Given the description of an element on the screen output the (x, y) to click on. 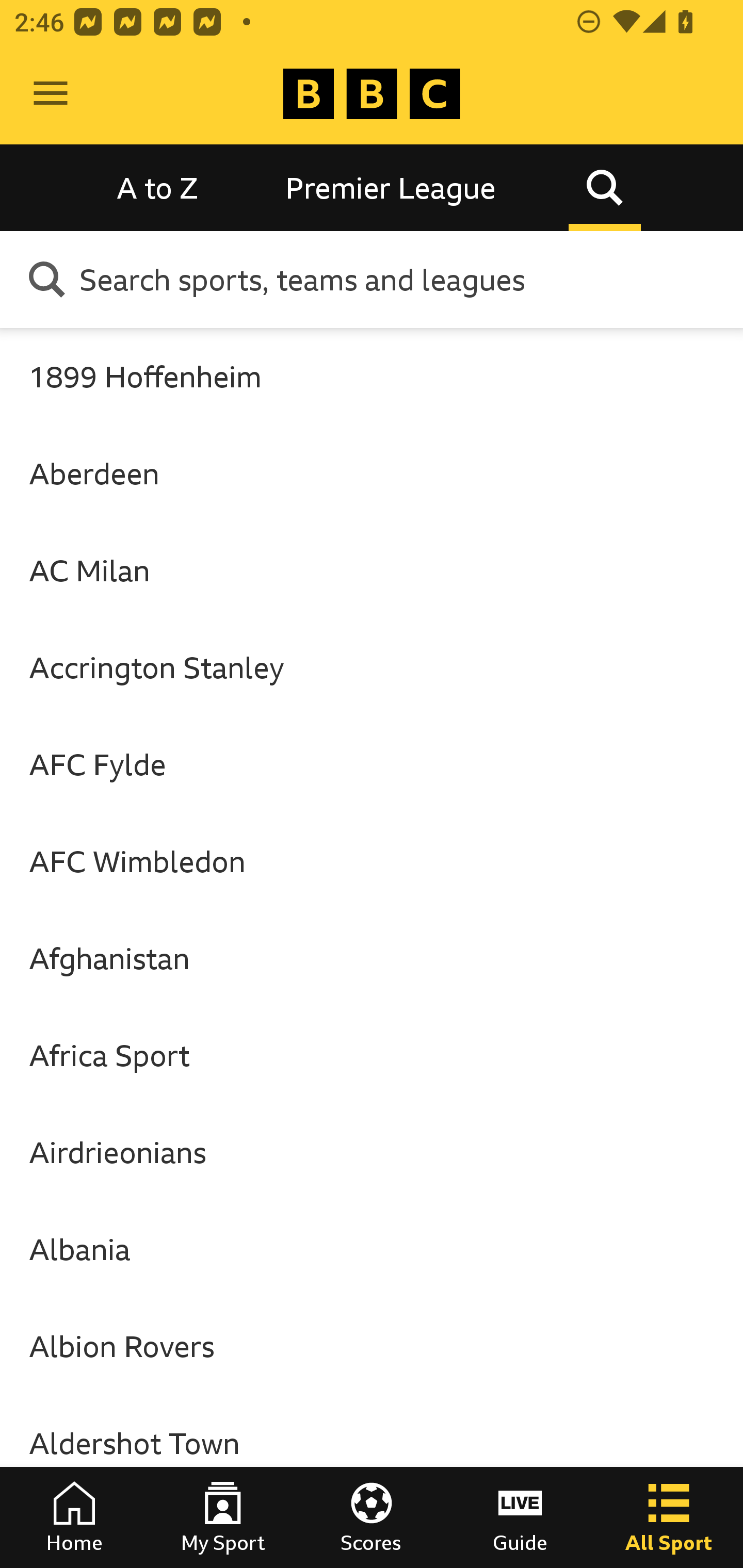
Open Menu (50, 93)
A to Z (157, 187)
Premier League (390, 187)
Search sports, teams and leagues (404, 278)
1899 Hoffenheim (371, 375)
Aberdeen (371, 473)
AC Milan (371, 570)
Accrington Stanley (371, 667)
AFC Fylde (371, 764)
AFC Wimbledon (371, 860)
Afghanistan (371, 957)
Africa Sport (371, 1054)
Airdrieonians (371, 1152)
Albania (371, 1249)
Albion Rovers (371, 1345)
Aldershot Town (371, 1442)
Home (74, 1517)
My Sport (222, 1517)
Scores (371, 1517)
Guide (519, 1517)
